Given the description of an element on the screen output the (x, y) to click on. 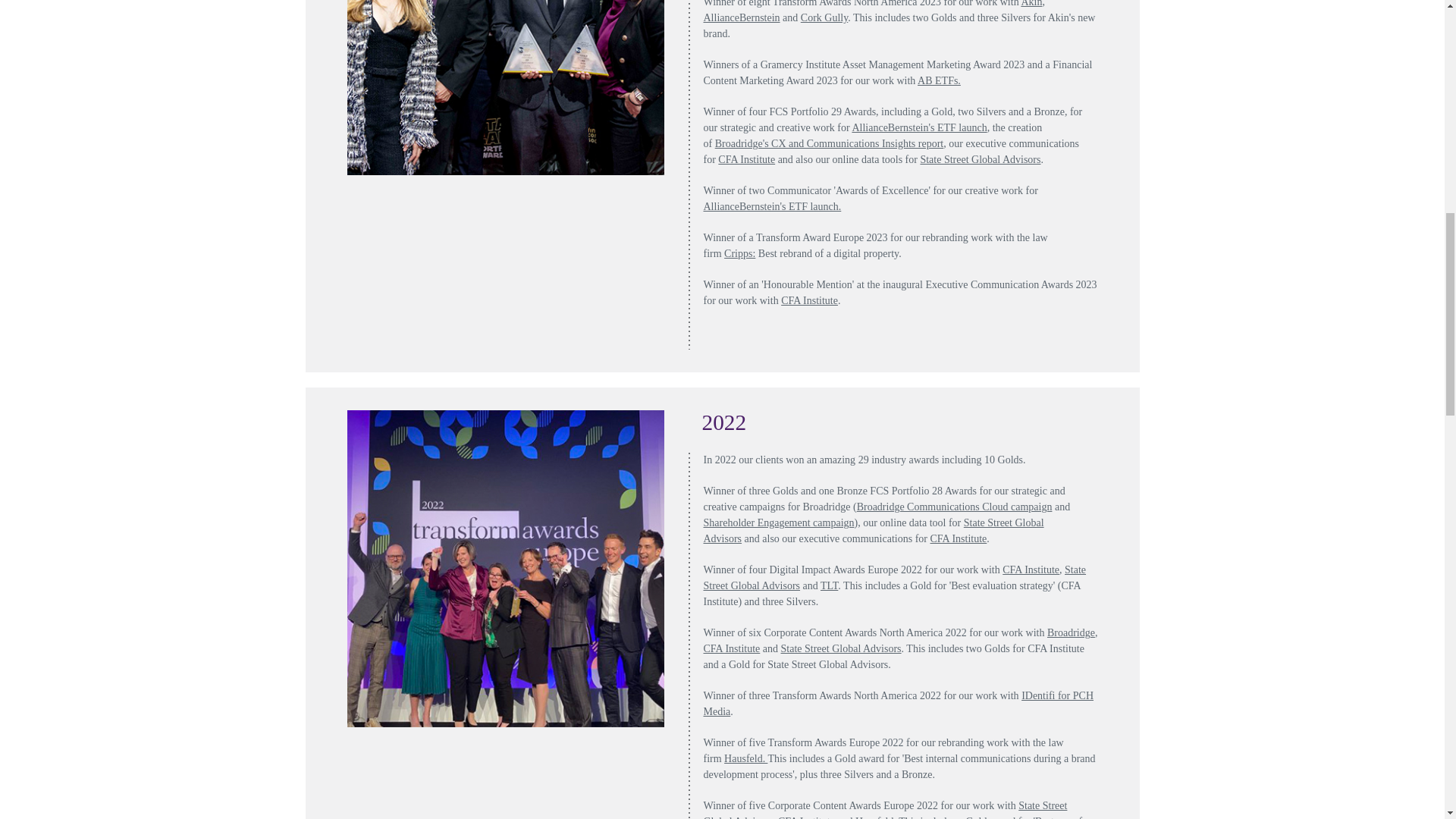
CFA institute (745, 159)
Akin (1031, 3)
AllianceBernstein ETFs (741, 17)
Broadridge CX and Consumer Insights report (828, 143)
AllianceBernstein ETFs (772, 206)
Akin (1031, 3)
AllianceBernstein ETFs (938, 80)
AllianceBernstein ETFs (919, 127)
Cork Gully (823, 17)
SSGA Glidepath Tool (980, 159)
